Given the description of an element on the screen output the (x, y) to click on. 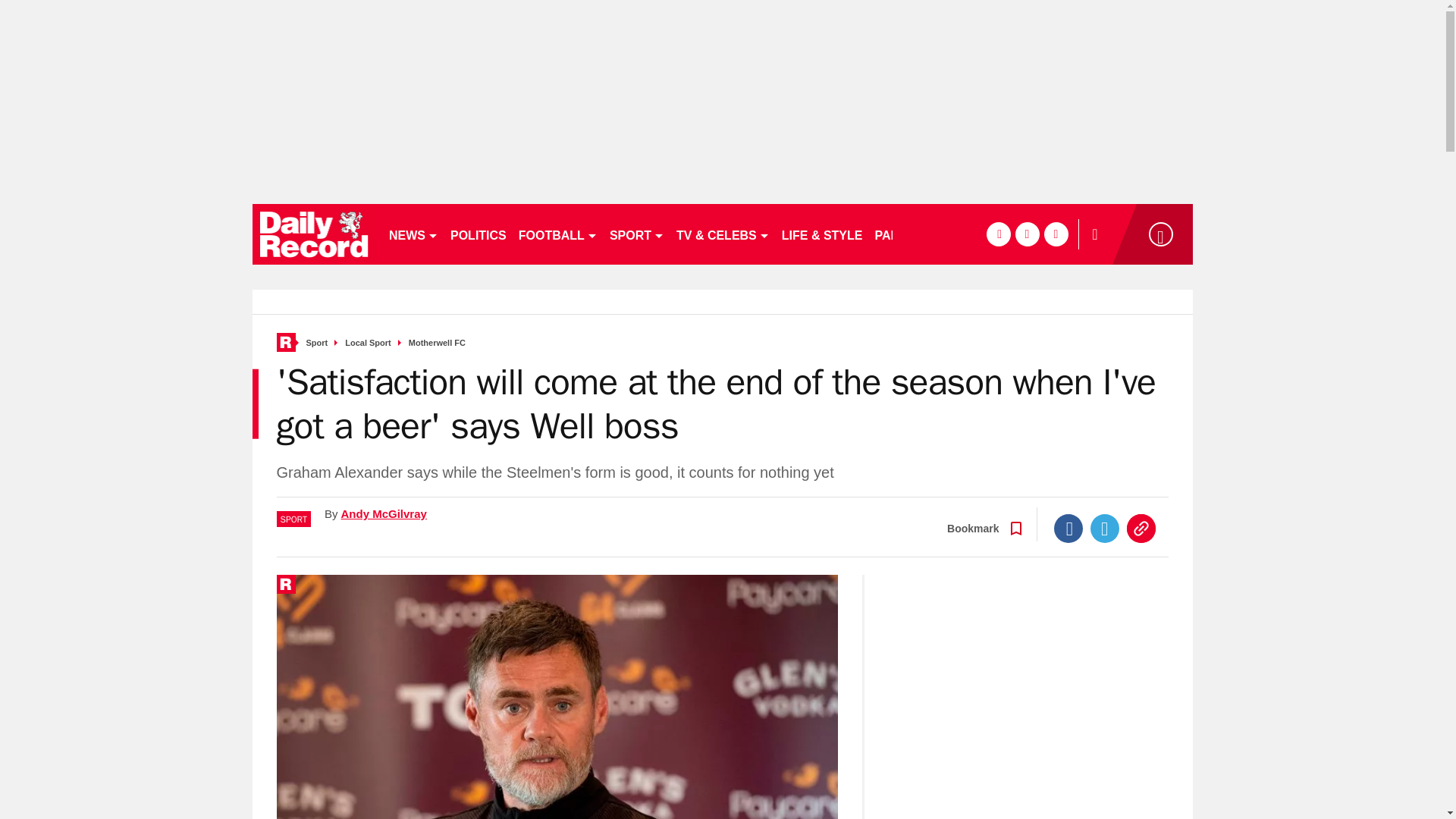
dailyrecord (313, 233)
SPORT (636, 233)
instagram (1055, 233)
facebook (997, 233)
twitter (1026, 233)
NEWS (413, 233)
POLITICS (478, 233)
Facebook (1068, 528)
FOOTBALL (558, 233)
Twitter (1104, 528)
